Given the description of an element on the screen output the (x, y) to click on. 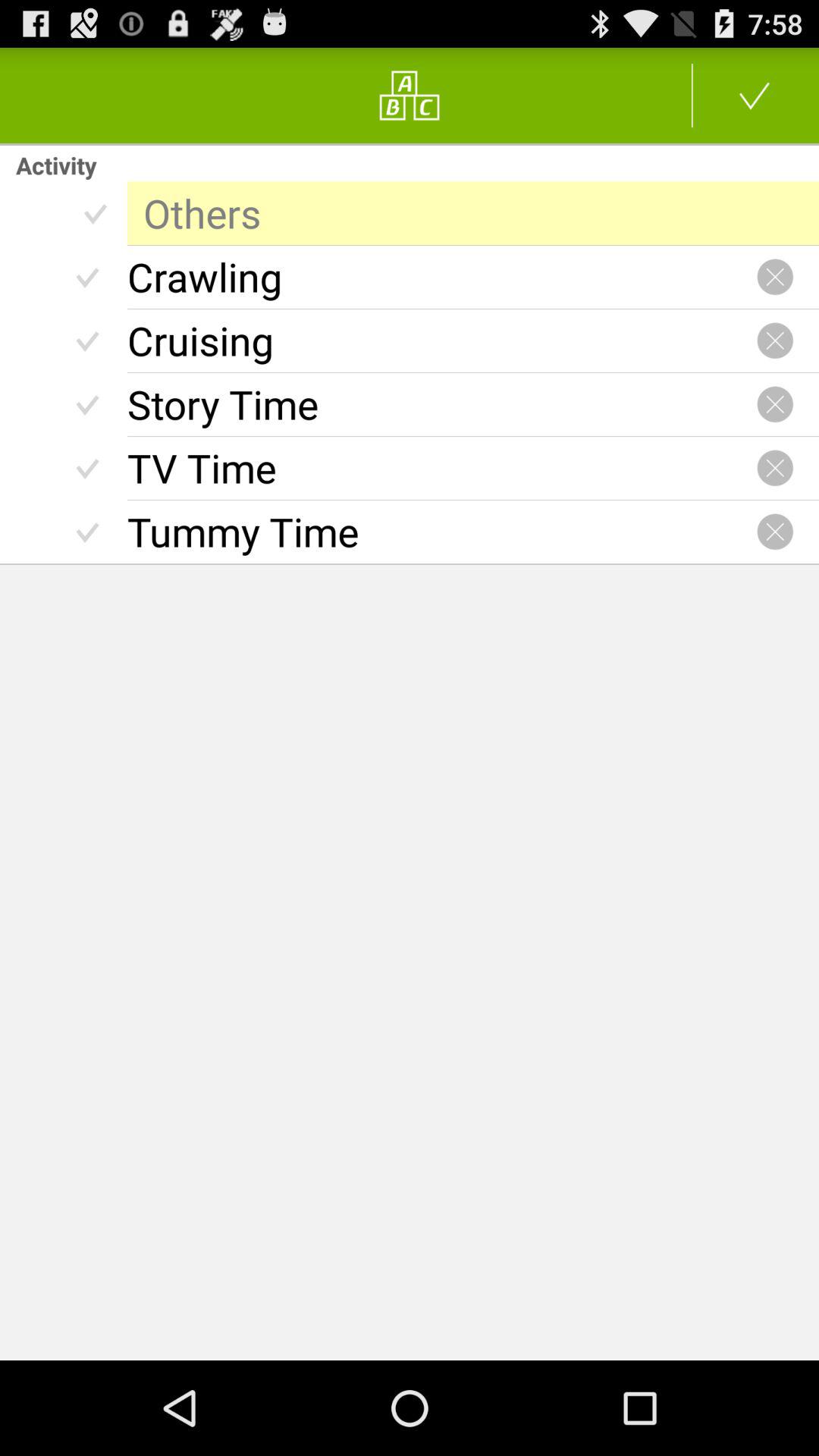
select crawling (441, 276)
